Given the description of an element on the screen output the (x, y) to click on. 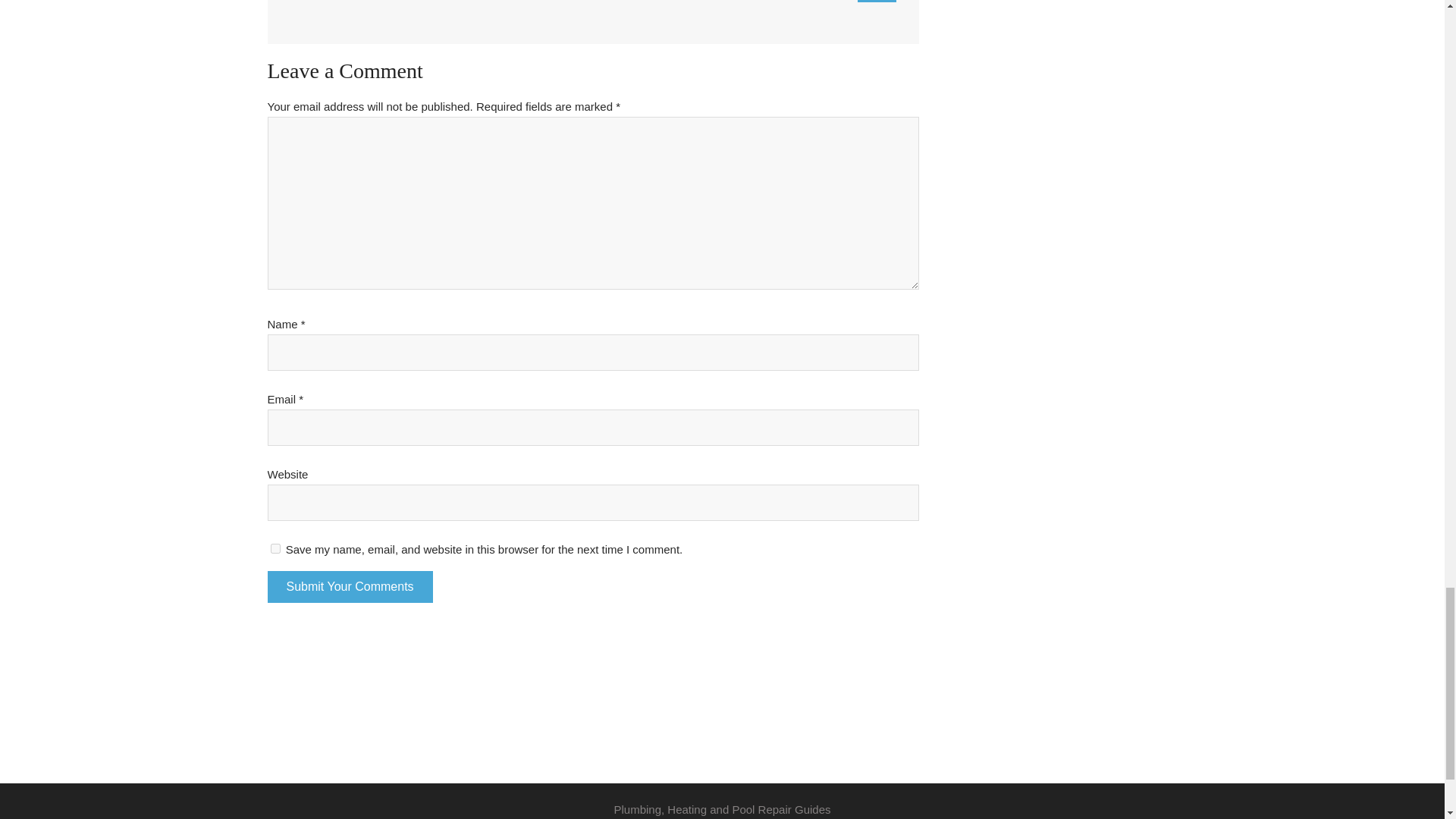
yes (274, 548)
Submit Your Comments (349, 586)
